Given the description of an element on the screen output the (x, y) to click on. 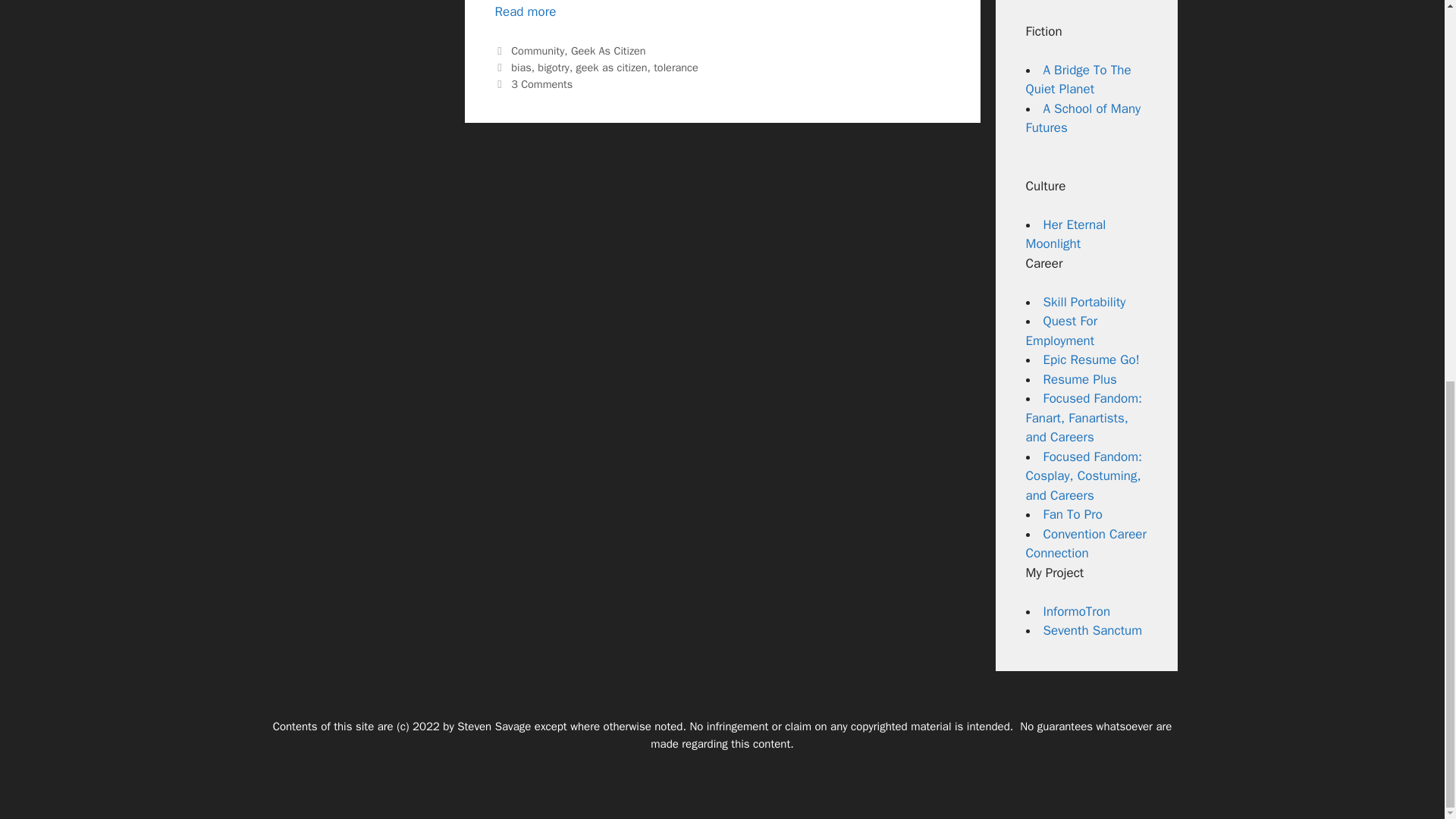
Geek As Citizen (608, 50)
bigotry (553, 67)
Geek As Citizen: Tolerance As Part of Geekdom (525, 11)
3 Comments (541, 83)
geek as citizen (611, 67)
Read more (525, 11)
tolerance (675, 67)
bias (521, 67)
Community (537, 50)
